Given the description of an element on the screen output the (x, y) to click on. 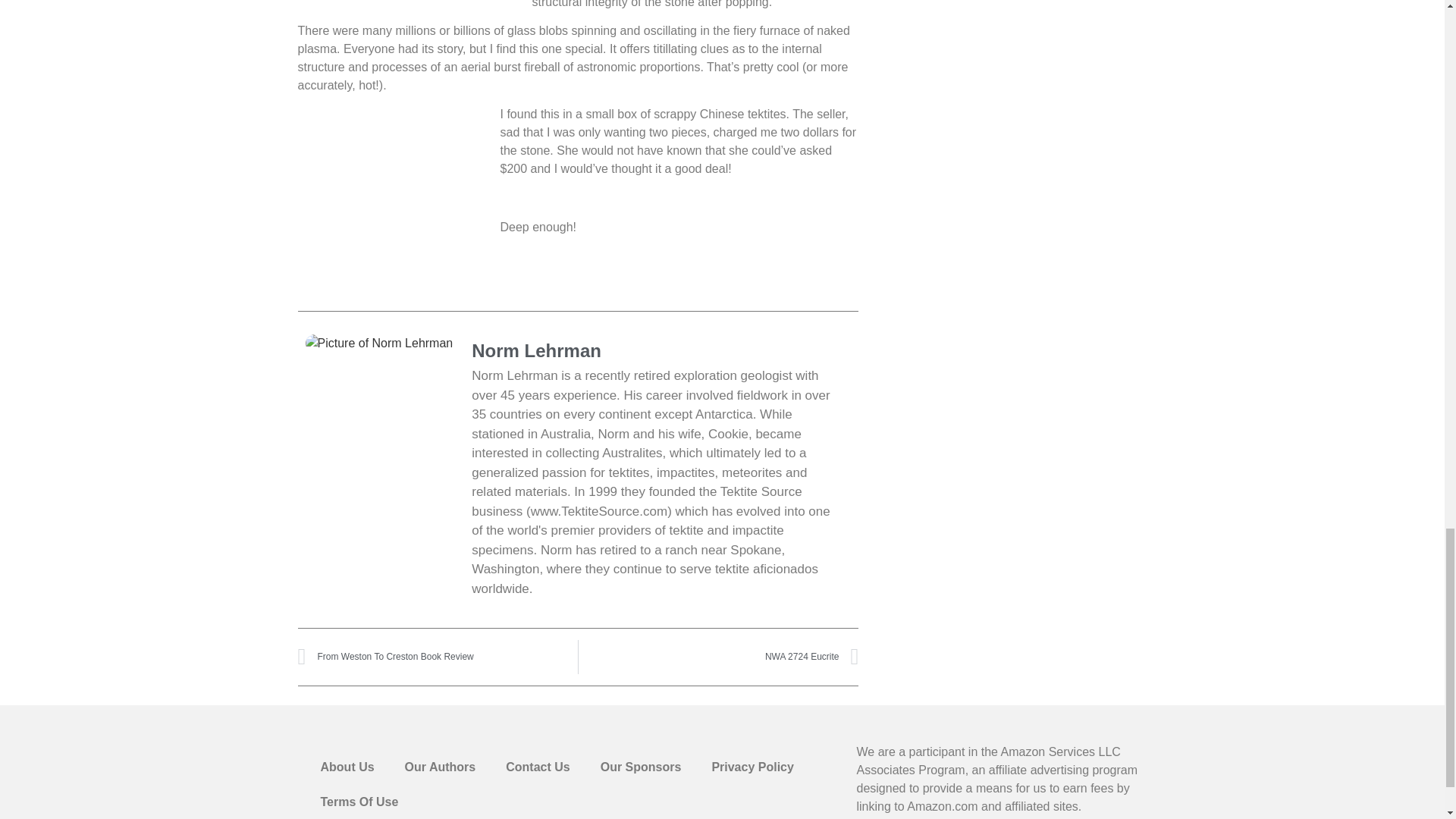
From Weston To Creston Book Review (436, 656)
NWA 2724 Eucrite (718, 656)
